Given the description of an element on the screen output the (x, y) to click on. 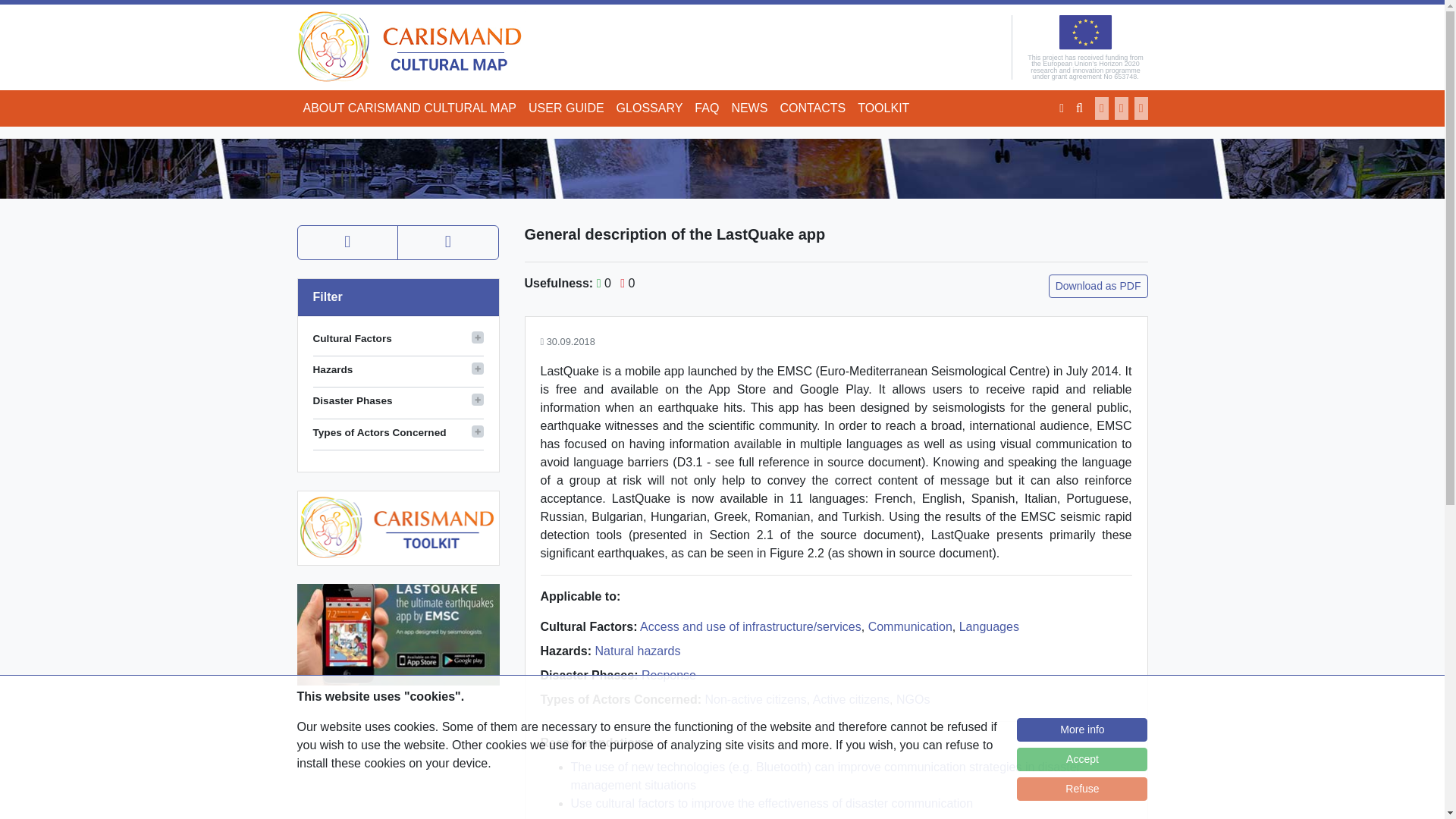
Response (668, 675)
Natural hazards (638, 650)
USER GUIDE (566, 108)
FAQ (706, 108)
CONTACTS (812, 108)
Hide (477, 368)
Table view (448, 242)
Hide (477, 431)
Hide (477, 337)
CARISMAND Toolkit (398, 526)
